Given the description of an element on the screen output the (x, y) to click on. 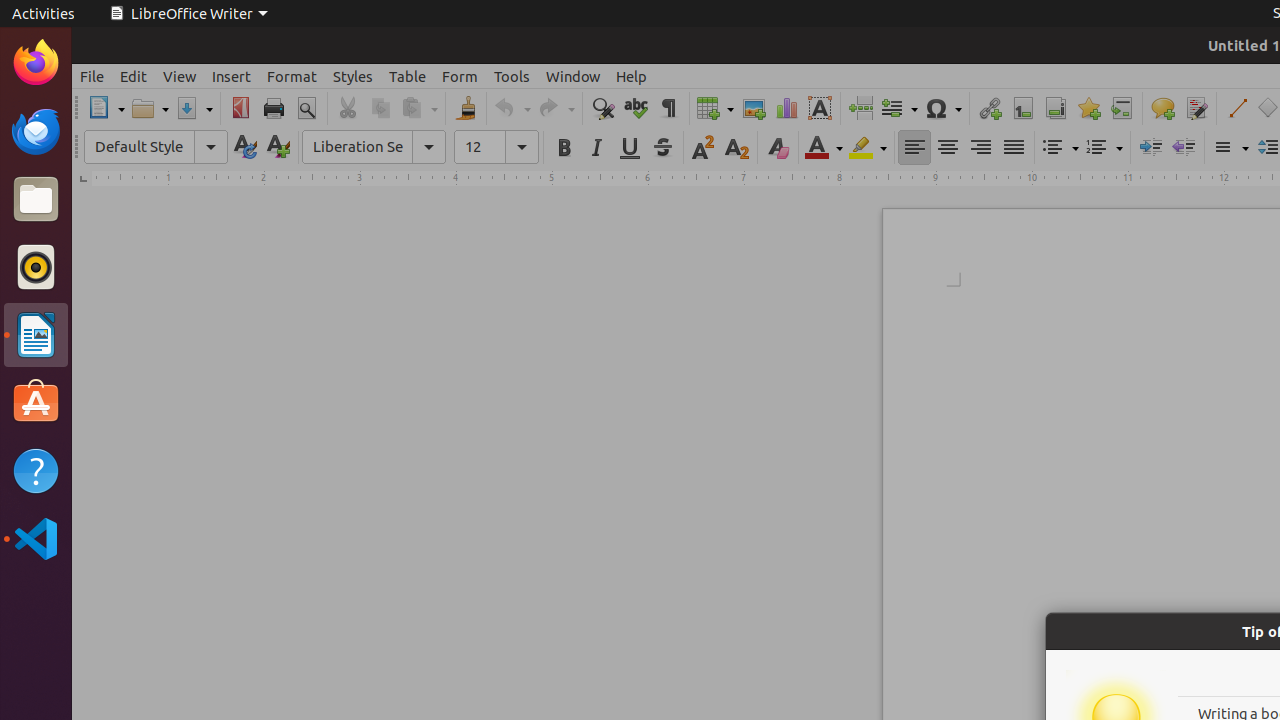
IsaHelpMain.desktop Element type: label (133, 300)
